Given the description of an element on the screen output the (x, y) to click on. 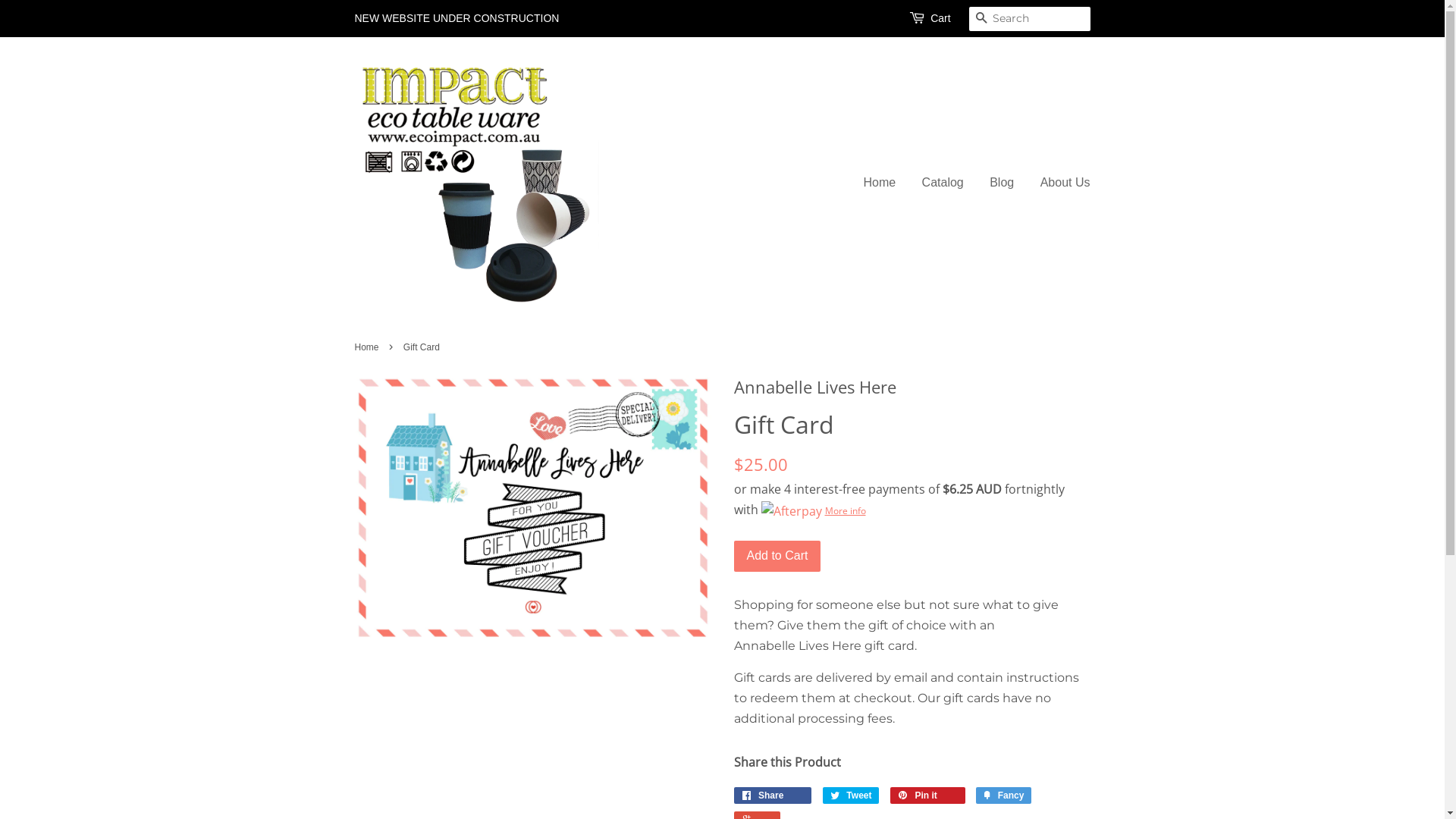
About Us Element type: text (1059, 181)
Home Element type: text (884, 181)
Catalog Element type: text (942, 181)
Search Element type: text (981, 18)
Blog Element type: text (1001, 181)
More info Element type: text (813, 509)
Tweet Element type: text (850, 795)
Cart Element type: text (940, 18)
Share Element type: text (773, 795)
Fancy Element type: text (1003, 795)
Add to Cart Element type: text (777, 555)
Home Element type: text (368, 347)
Pin it Element type: text (927, 795)
